Given the description of an element on the screen output the (x, y) to click on. 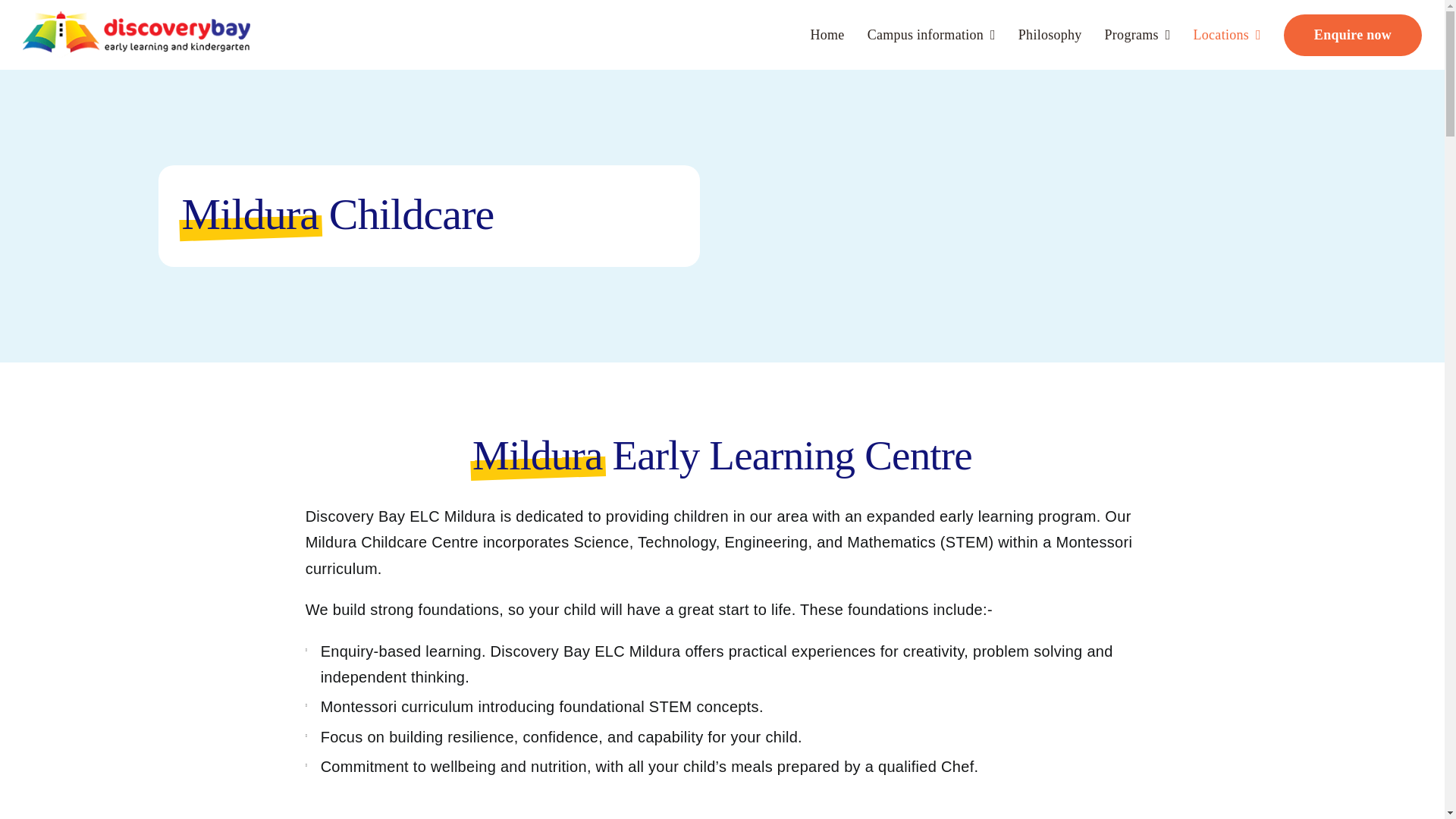
Programs (1137, 34)
Enquire now (1353, 34)
Locations (1226, 34)
Philosophy (1049, 34)
Campus information (931, 34)
